Given the description of an element on the screen output the (x, y) to click on. 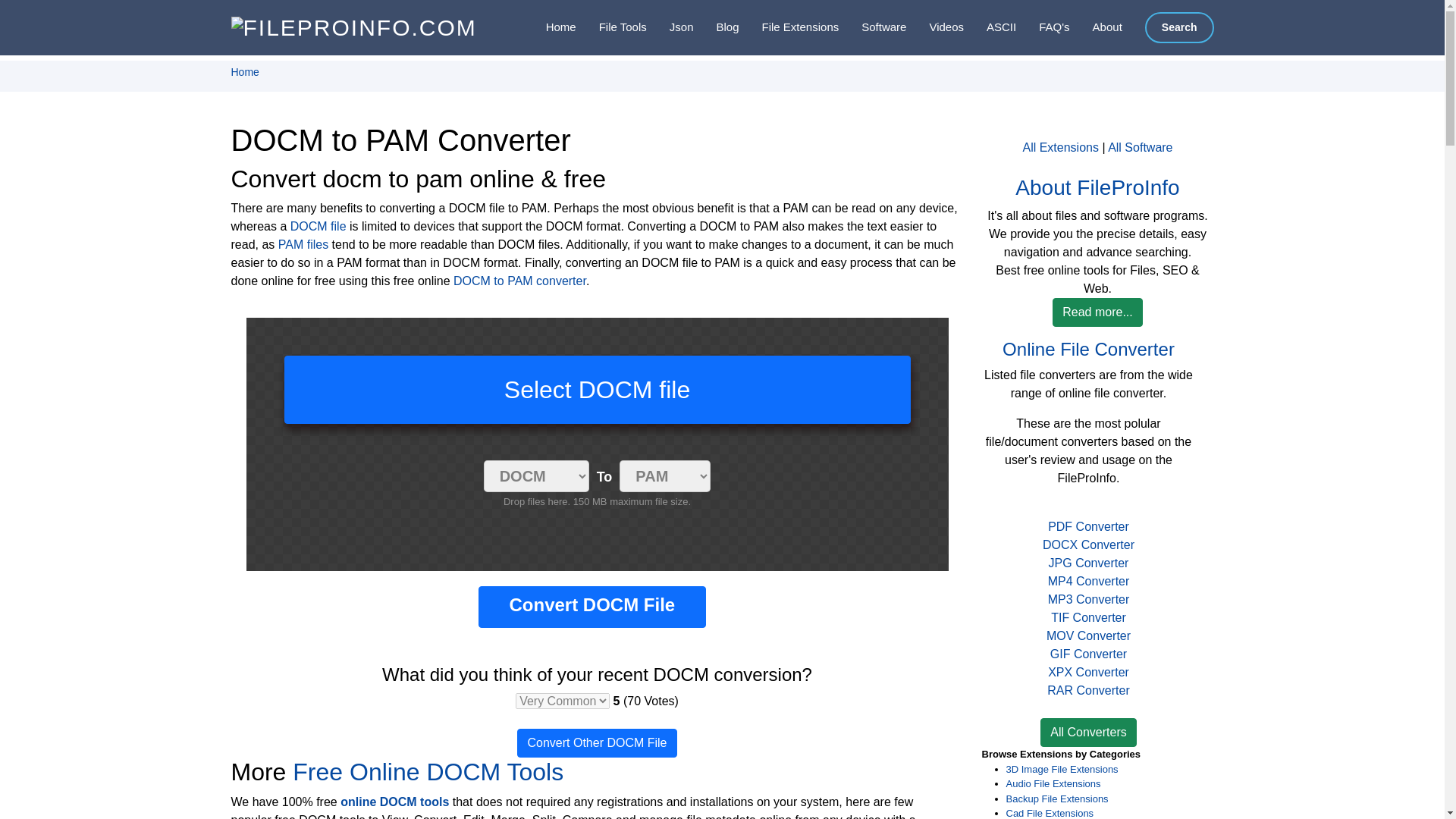
File extensions list (789, 27)
File Tools (611, 27)
PAM files (303, 244)
Search (1179, 27)
Browse all free online DOCM tools (394, 801)
Json (670, 27)
Convert Other DOCM File (596, 742)
About FileProInfo (1096, 27)
Select DOCM file (596, 389)
FileProInfo tech blog (715, 27)
Home (549, 27)
ASCII (989, 27)
DOCM file (317, 226)
About (1096, 27)
Home (244, 71)
